Given the description of an element on the screen output the (x, y) to click on. 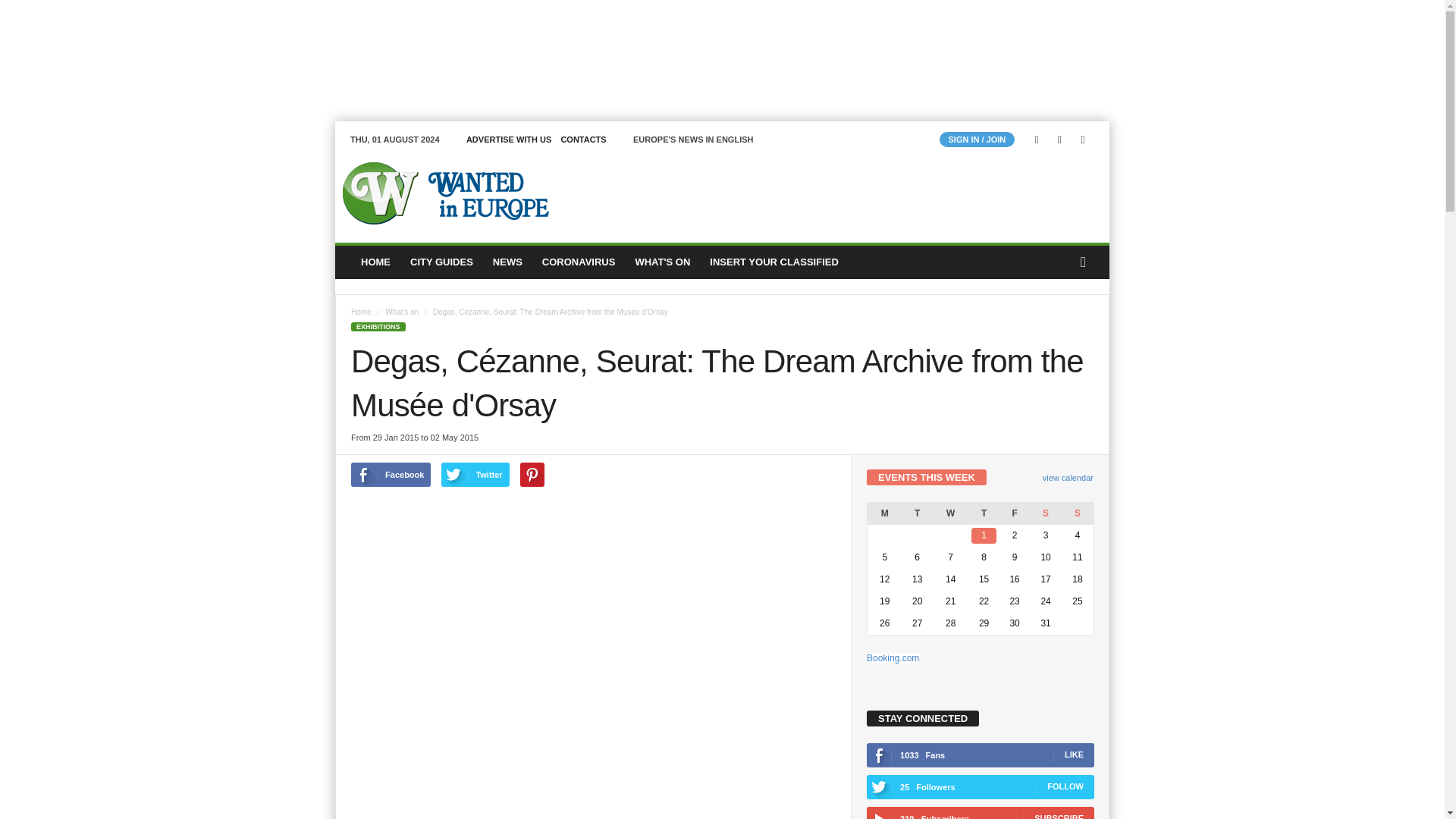
ADVERTISE WITH US (508, 139)
CONTACTS (582, 139)
Wanted in Europe (437, 192)
